Given the description of an element on the screen output the (x, y) to click on. 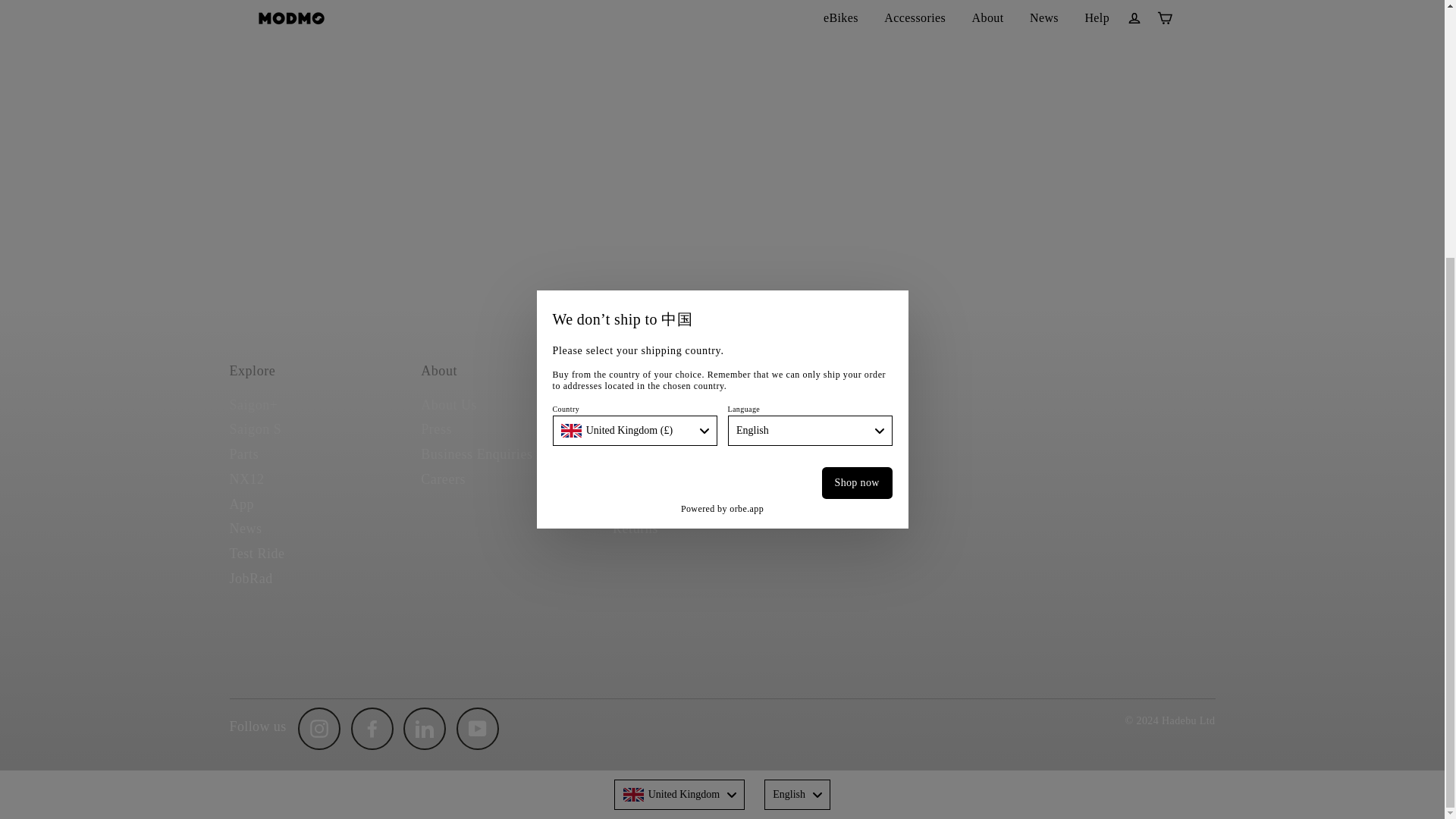
Modmo on Instagram (319, 728)
Shop now (857, 115)
English (810, 63)
orbe.app (745, 141)
Modmo on Facebook (371, 728)
Modmo on LinkedIn (424, 728)
Modmo on YouTube (478, 728)
